Given the description of an element on the screen output the (x, y) to click on. 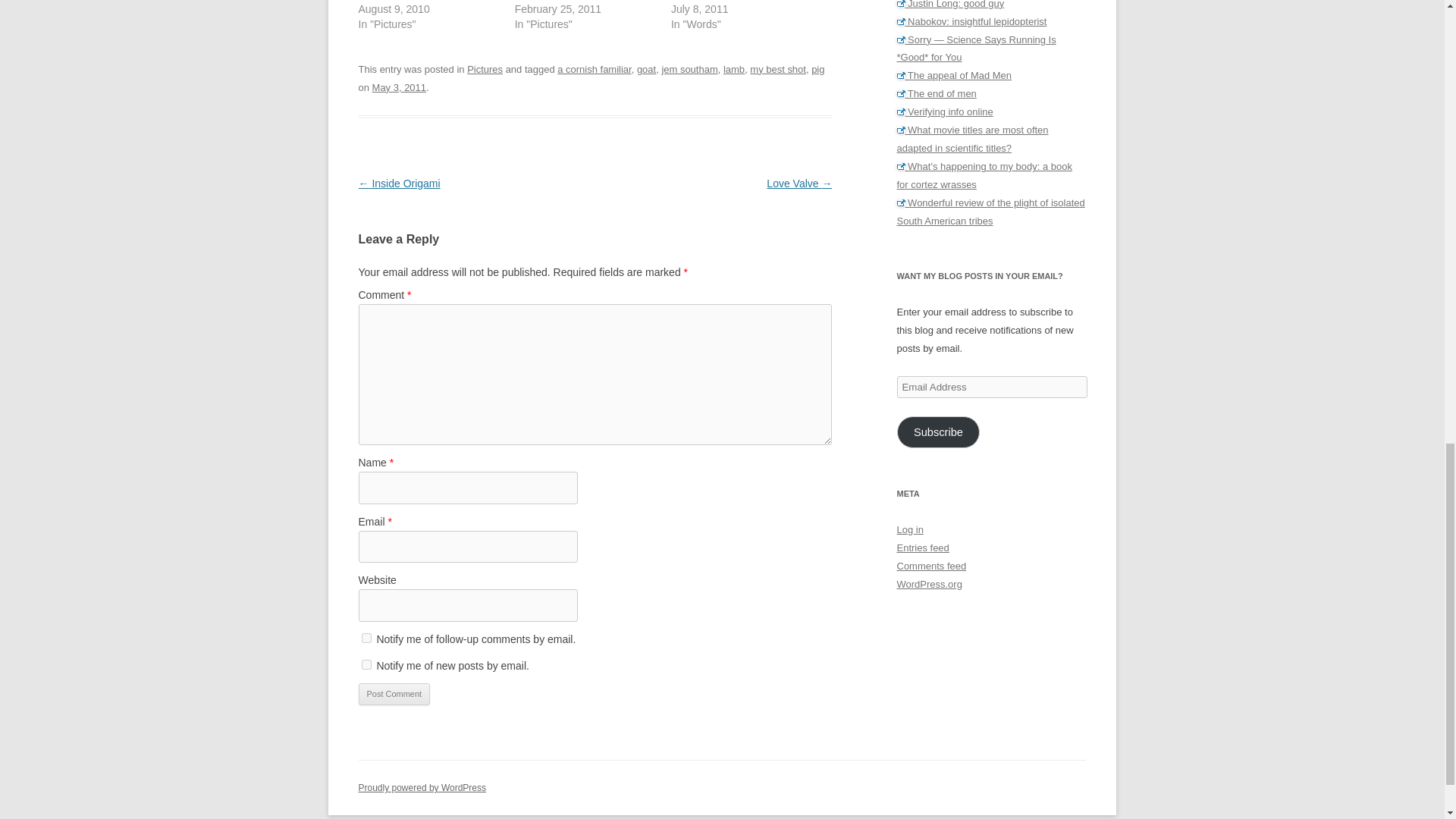
May 3, 2011 (399, 87)
subscribe (366, 664)
a cornish familiar (593, 69)
subscribe (366, 637)
goat (646, 69)
Post Comment (393, 694)
pig (817, 69)
jem southam (689, 69)
Post Comment (393, 694)
Semantic Personal Publishing Platform (422, 787)
8:13 AM (399, 87)
my best shot (777, 69)
Pictures (484, 69)
lamb (733, 69)
